Given the description of an element on the screen output the (x, y) to click on. 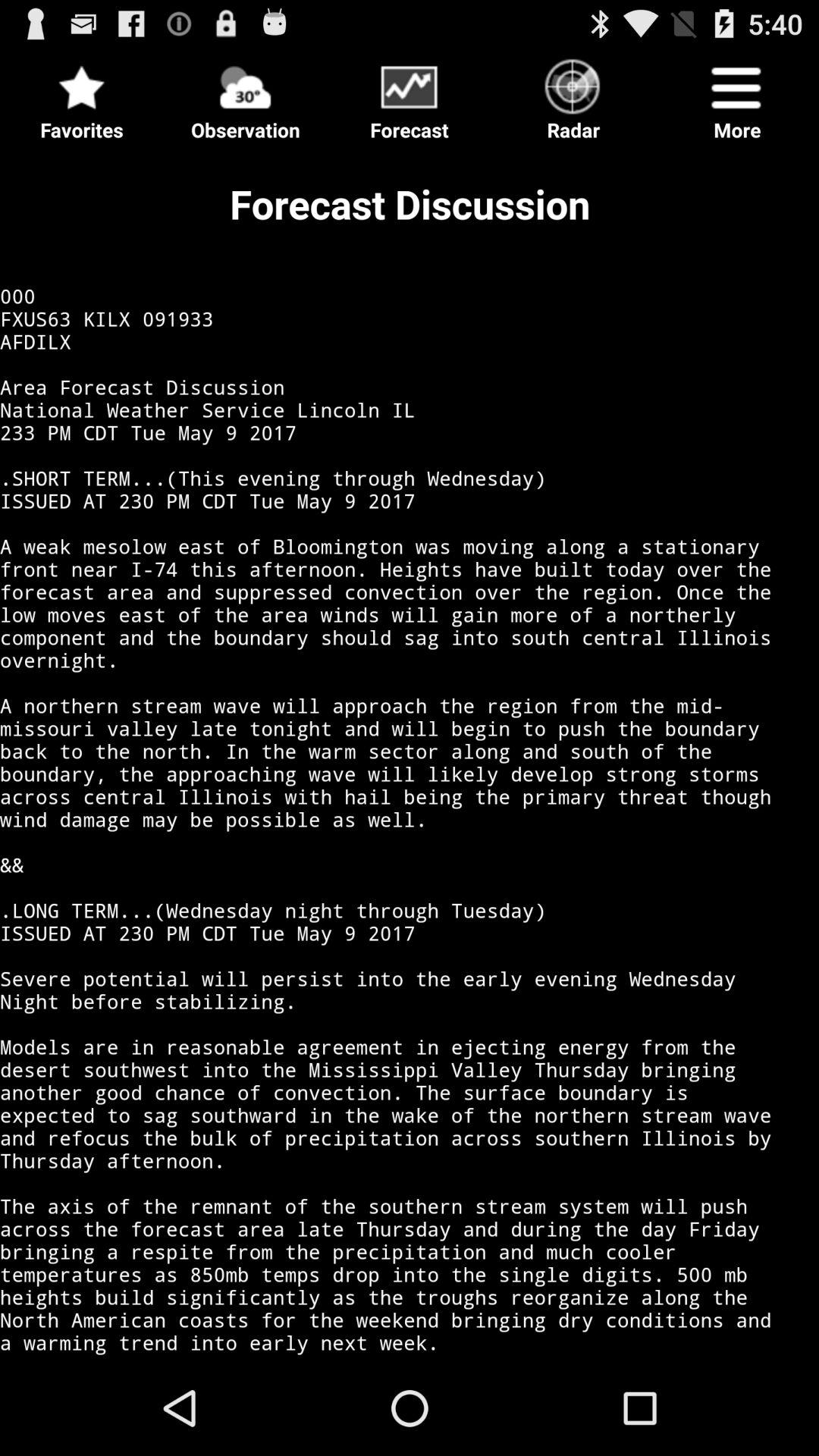
select button next to radar icon (409, 95)
